Given the description of an element on the screen output the (x, y) to click on. 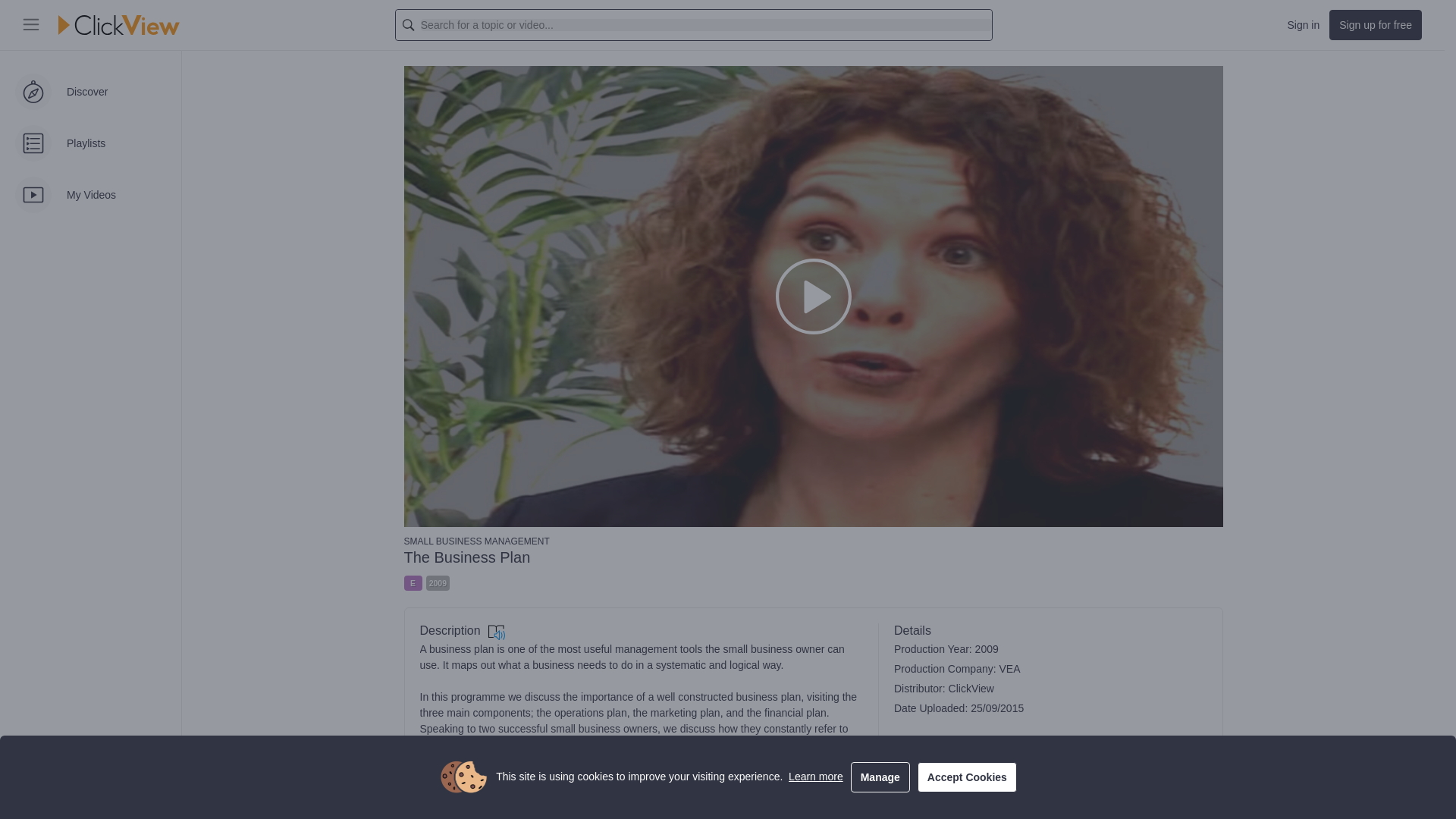
operations management (620, 786)
SMALL BUSINESS MANAGEMENT (813, 540)
SMALL BUSINESS MANAGEMENT (813, 540)
Learn more (816, 776)
My Videos (90, 194)
Playlists (90, 142)
Discover (90, 91)
finance (528, 786)
Sign in (1302, 24)
business plan (460, 786)
